Given the description of an element on the screen output the (x, y) to click on. 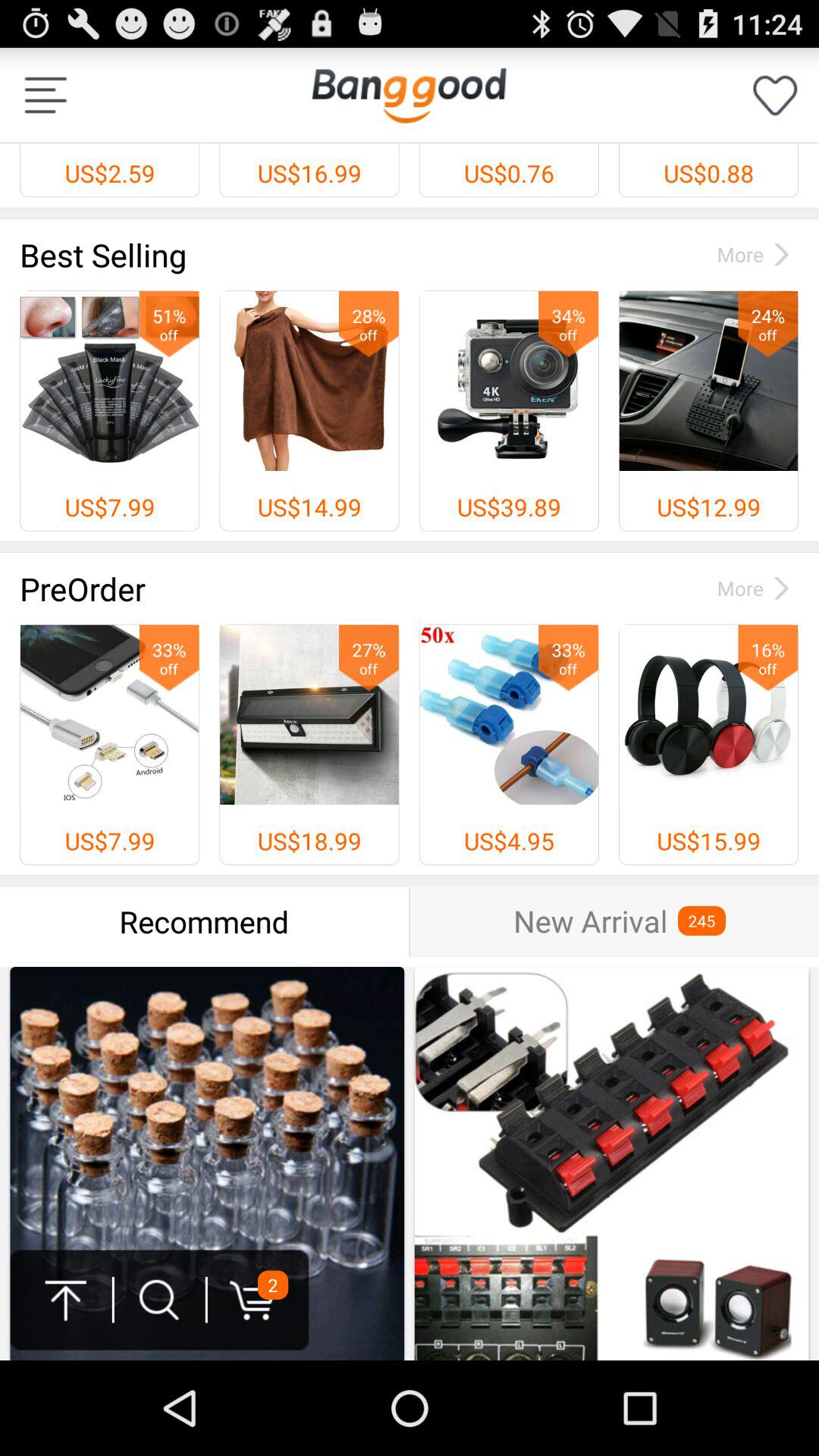
go to third option of first line (508, 410)
click the more options icon above us259 (45, 95)
select the first image below the preorder (109, 714)
click on the headphones image before us1599 (708, 714)
